Given the description of an element on the screen output the (x, y) to click on. 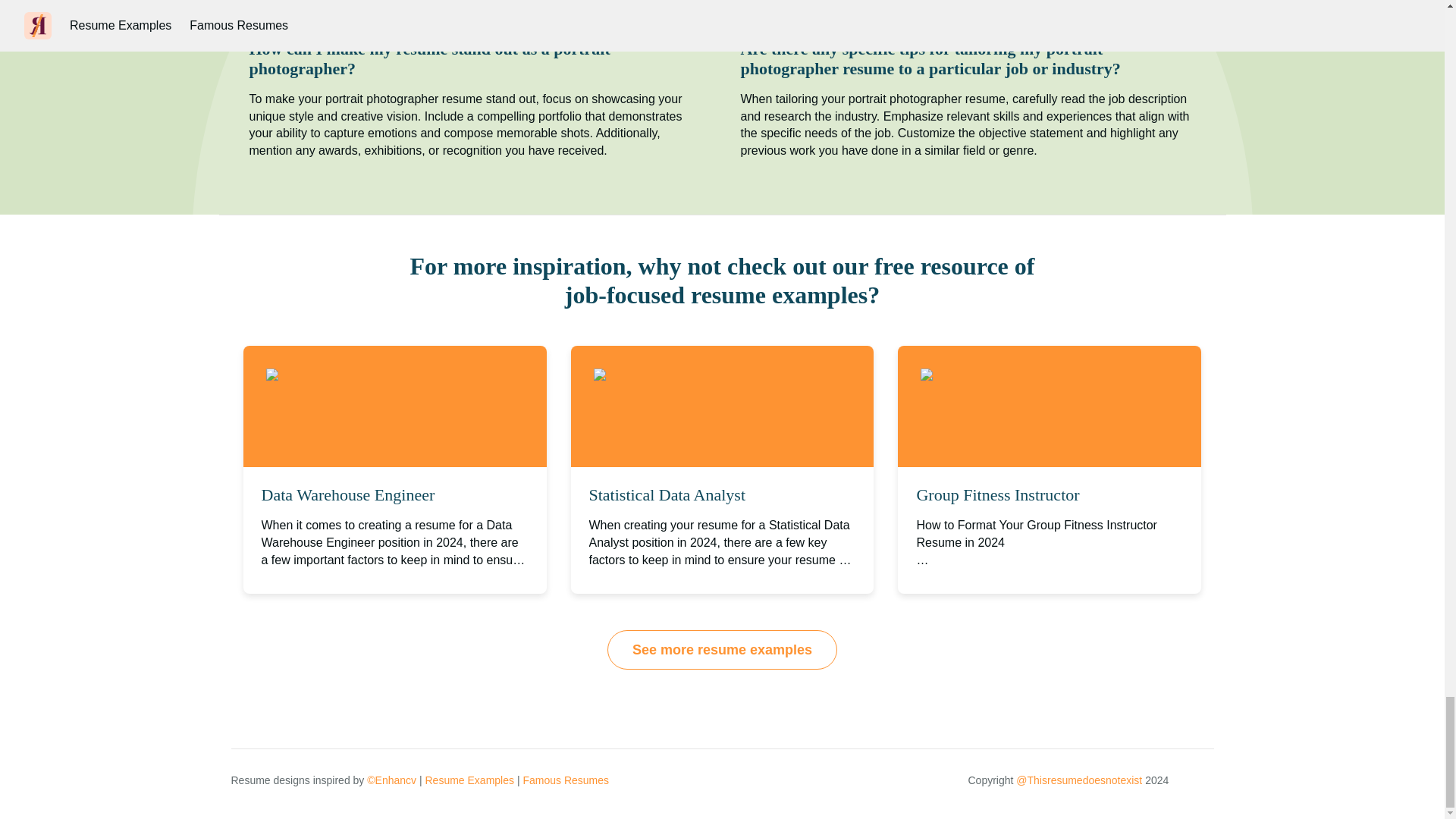
Group Fitness Instructor's resume (1024, 376)
Data Warehouse Engineer's resume (375, 376)
Statistical Data Analyst's resume (693, 376)
Resume Examples (469, 779)
See more resume examples (722, 649)
Famous Resumes (565, 779)
